Given the description of an element on the screen output the (x, y) to click on. 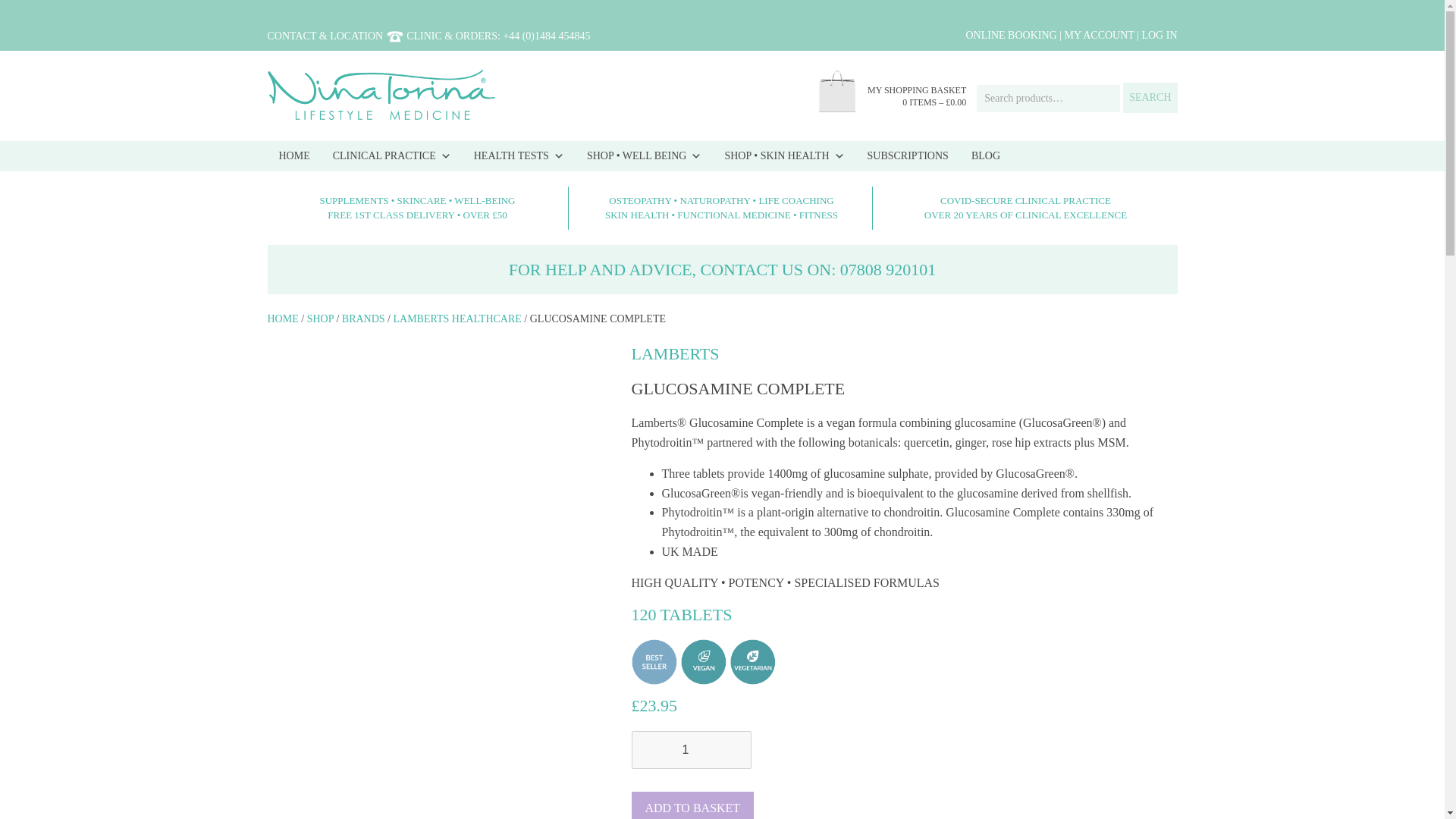
MY ACCOUNT (1099, 34)
View your shopping cart (934, 102)
ONLINE BOOKING (1011, 34)
1 (690, 750)
LOG IN (1158, 34)
